Given the description of an element on the screen output the (x, y) to click on. 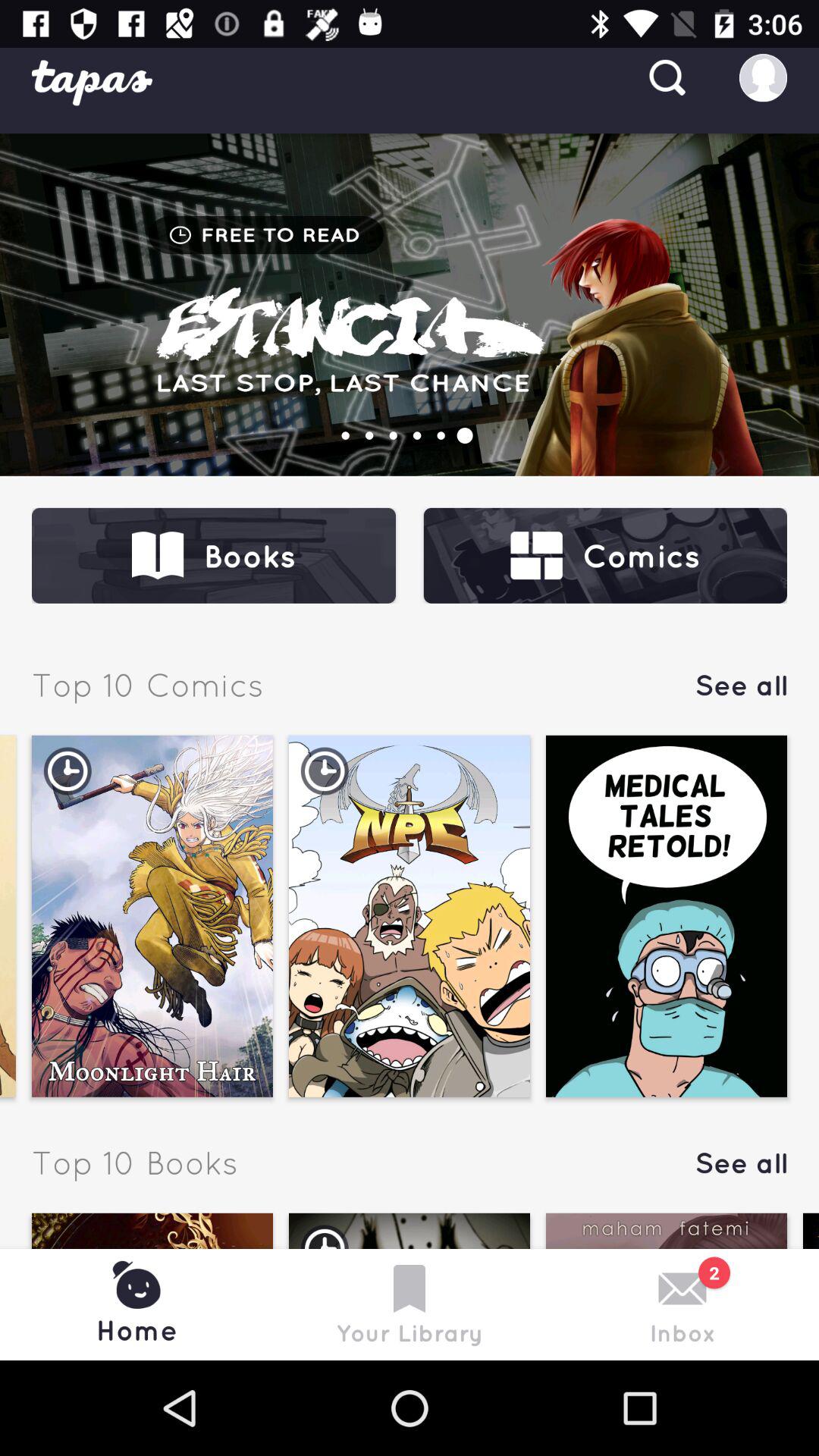
click the box next to books (605, 556)
click on second image timer (324, 771)
click on the image right to npc (666, 916)
select symbol above inbox (682, 1289)
select the option which is beside your library (666, 1285)
click on the option which is before your library (151, 1285)
